Given the description of an element on the screen output the (x, y) to click on. 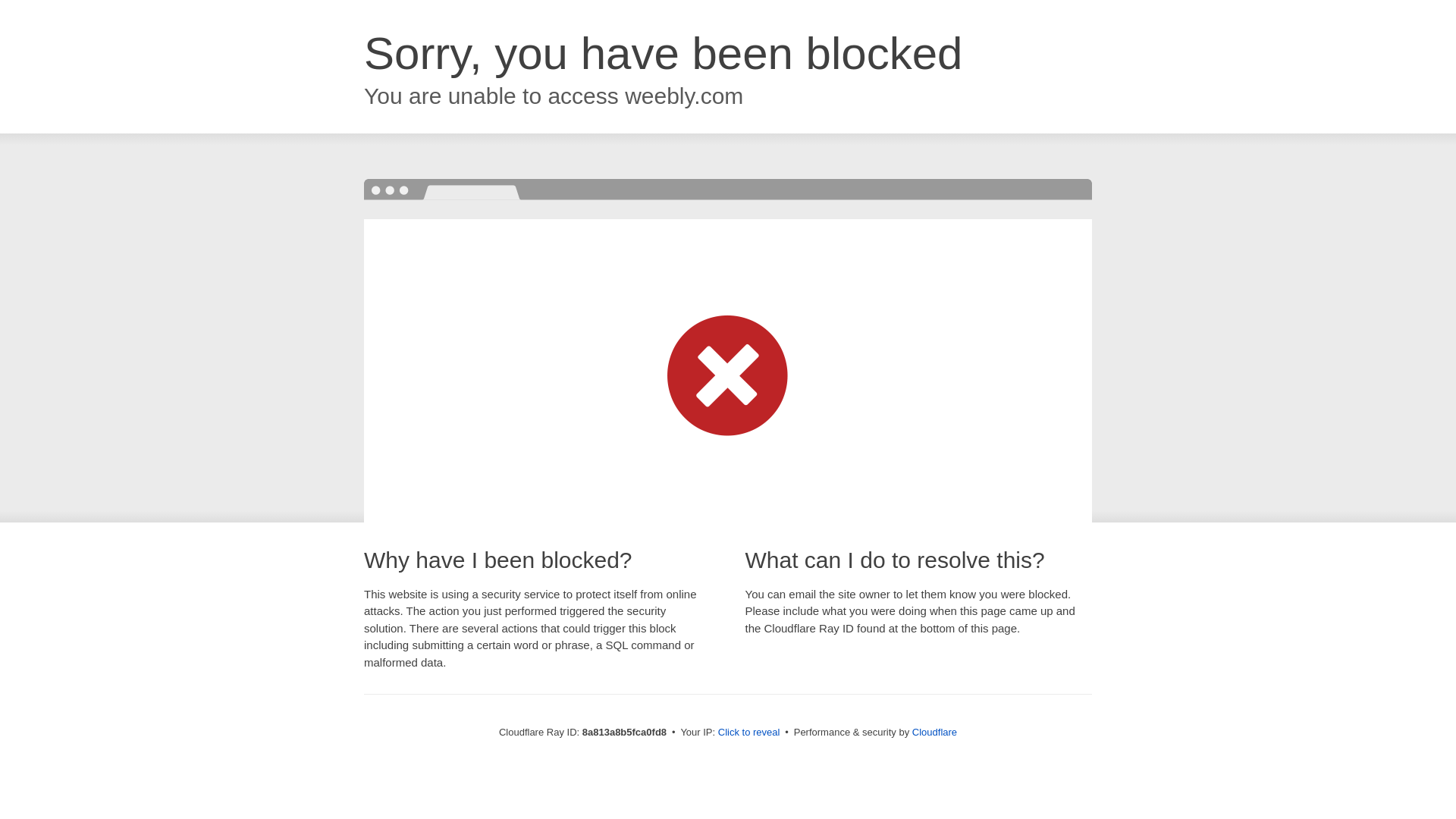
Cloudflare (934, 731)
Click to reveal (748, 732)
